Given the description of an element on the screen output the (x, y) to click on. 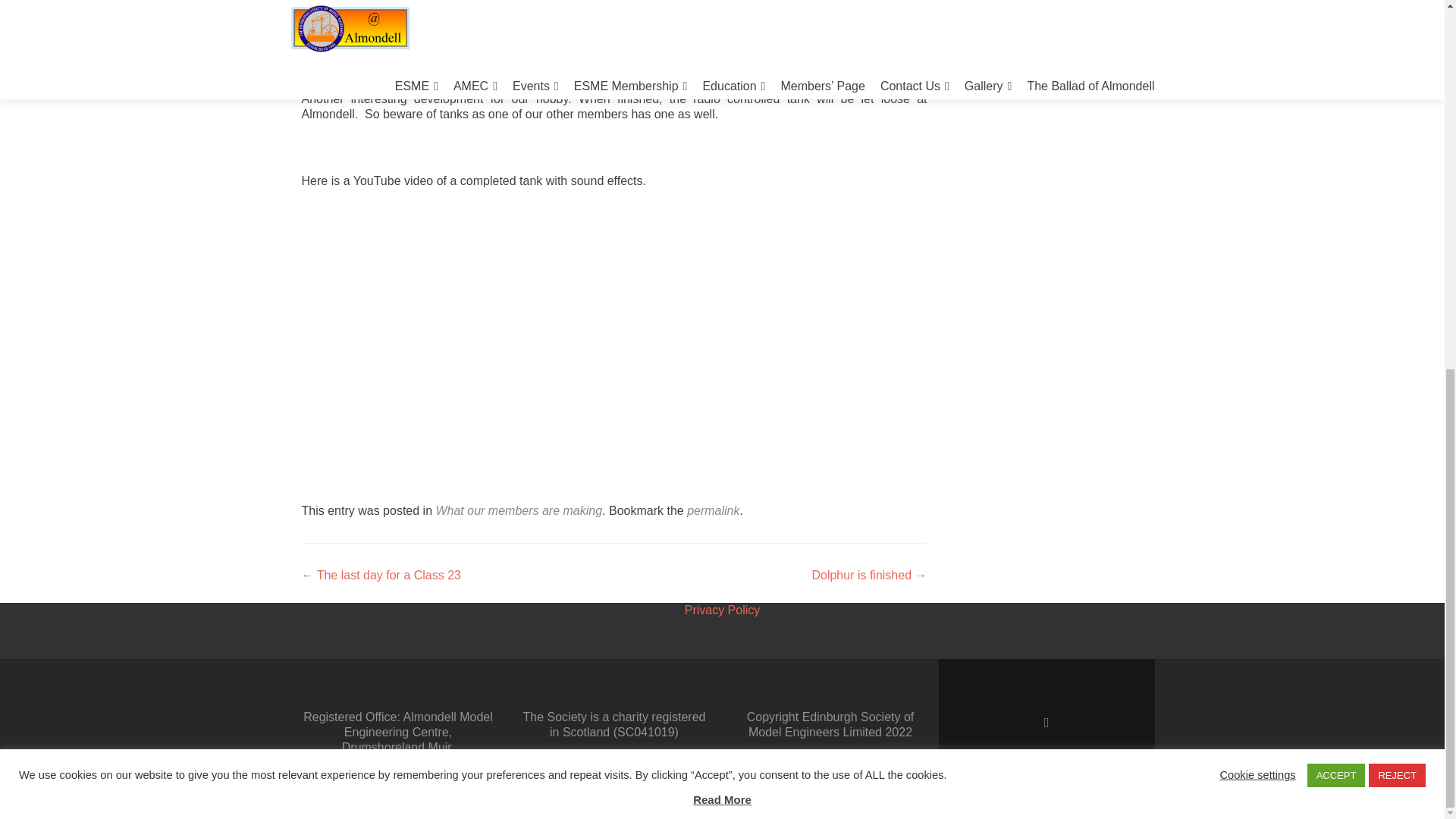
Massive scale model RC Panther tank - 110kg (544, 343)
